Given the description of an element on the screen output the (x, y) to click on. 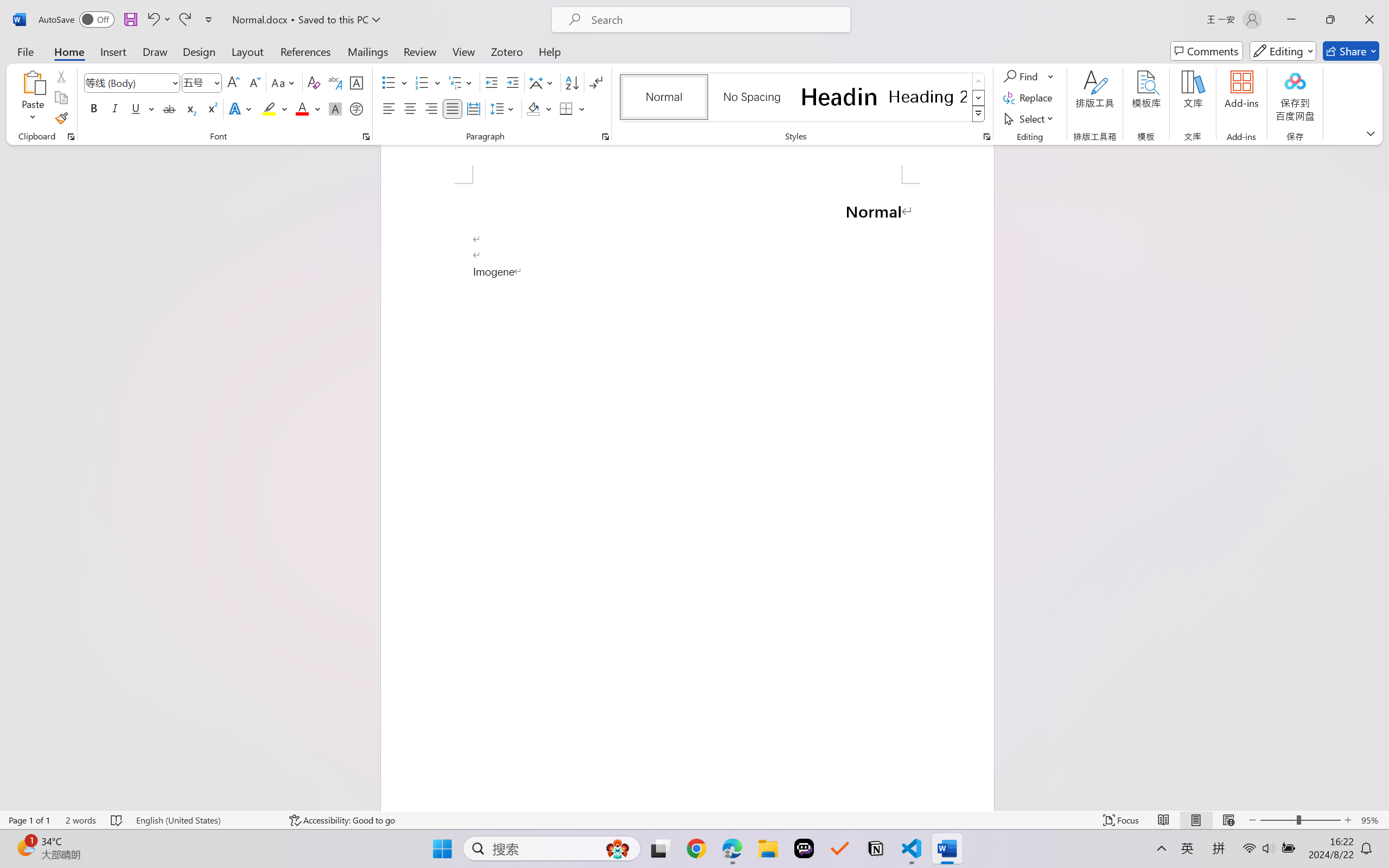
Asian Layout (542, 82)
Superscript (210, 108)
Center (409, 108)
Office Clipboard... (70, 136)
Character Shading (334, 108)
